Given the description of an element on the screen output the (x, y) to click on. 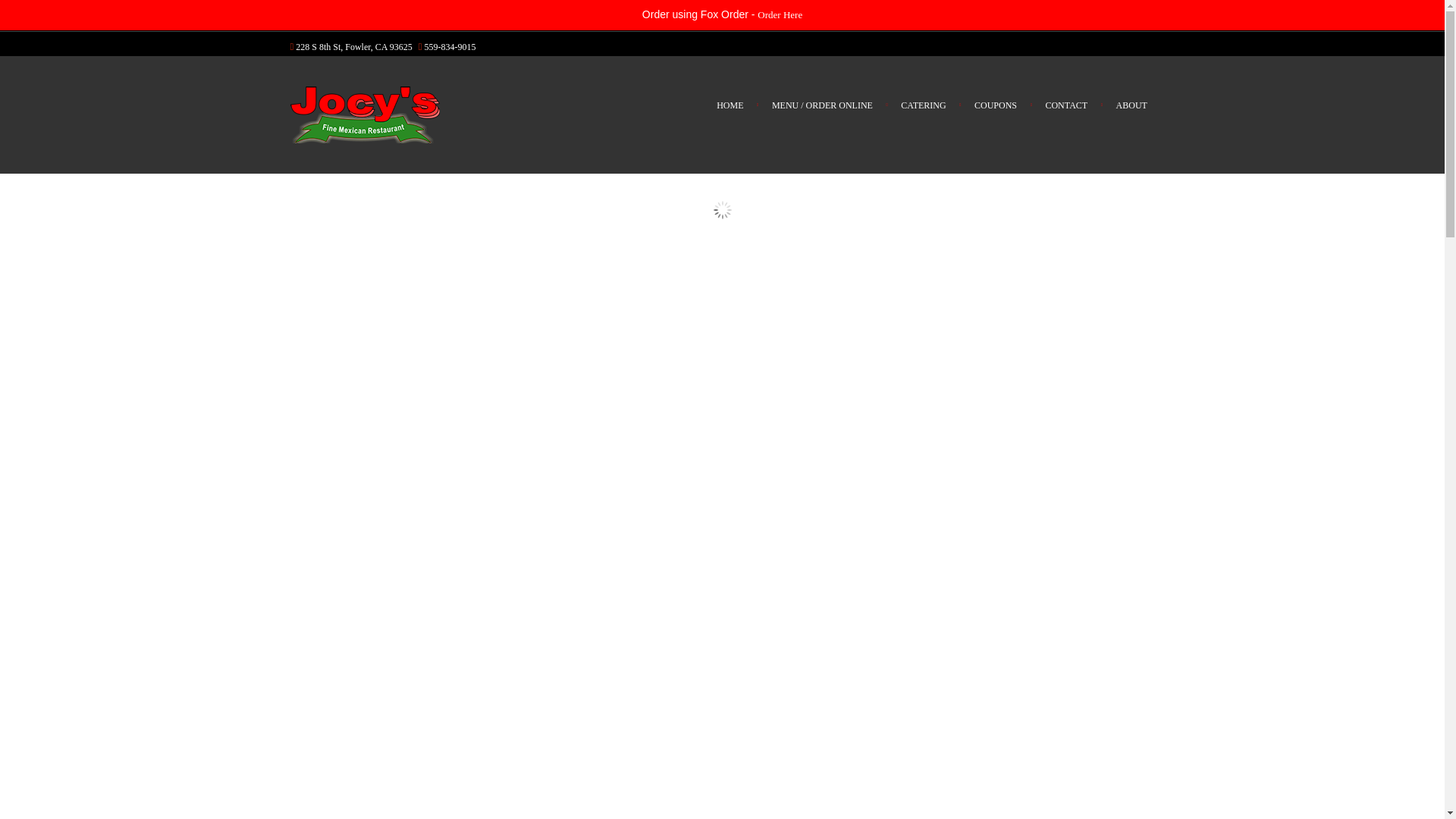
CATERING (923, 105)
CONTACT (1066, 105)
ABOUT (1131, 105)
Order Here (779, 14)
559-834-9015 (450, 46)
HOME (730, 105)
COUPONS (994, 105)
